Given the description of an element on the screen output the (x, y) to click on. 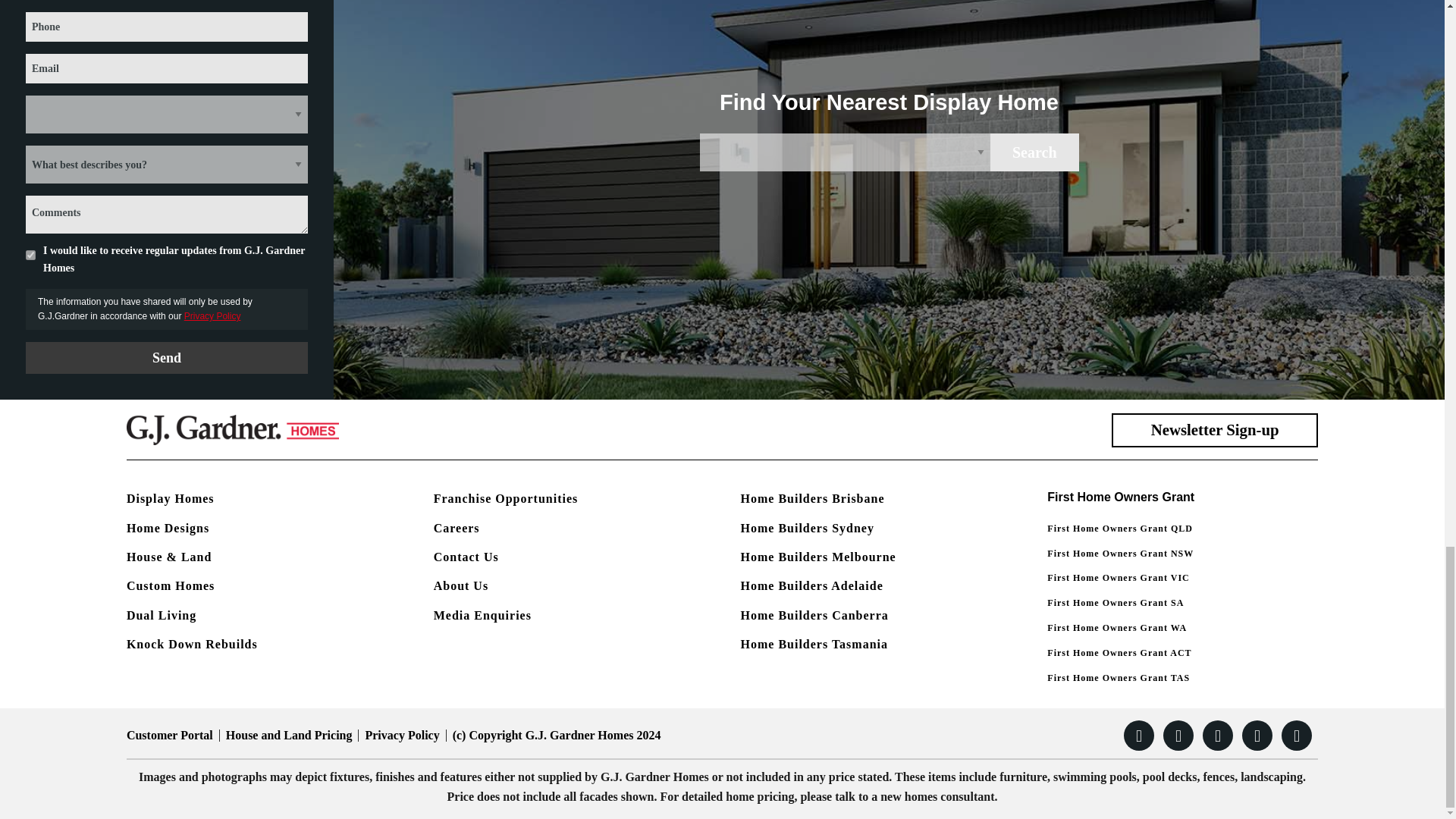
Search (1034, 152)
Send (166, 357)
